Given the description of an element on the screen output the (x, y) to click on. 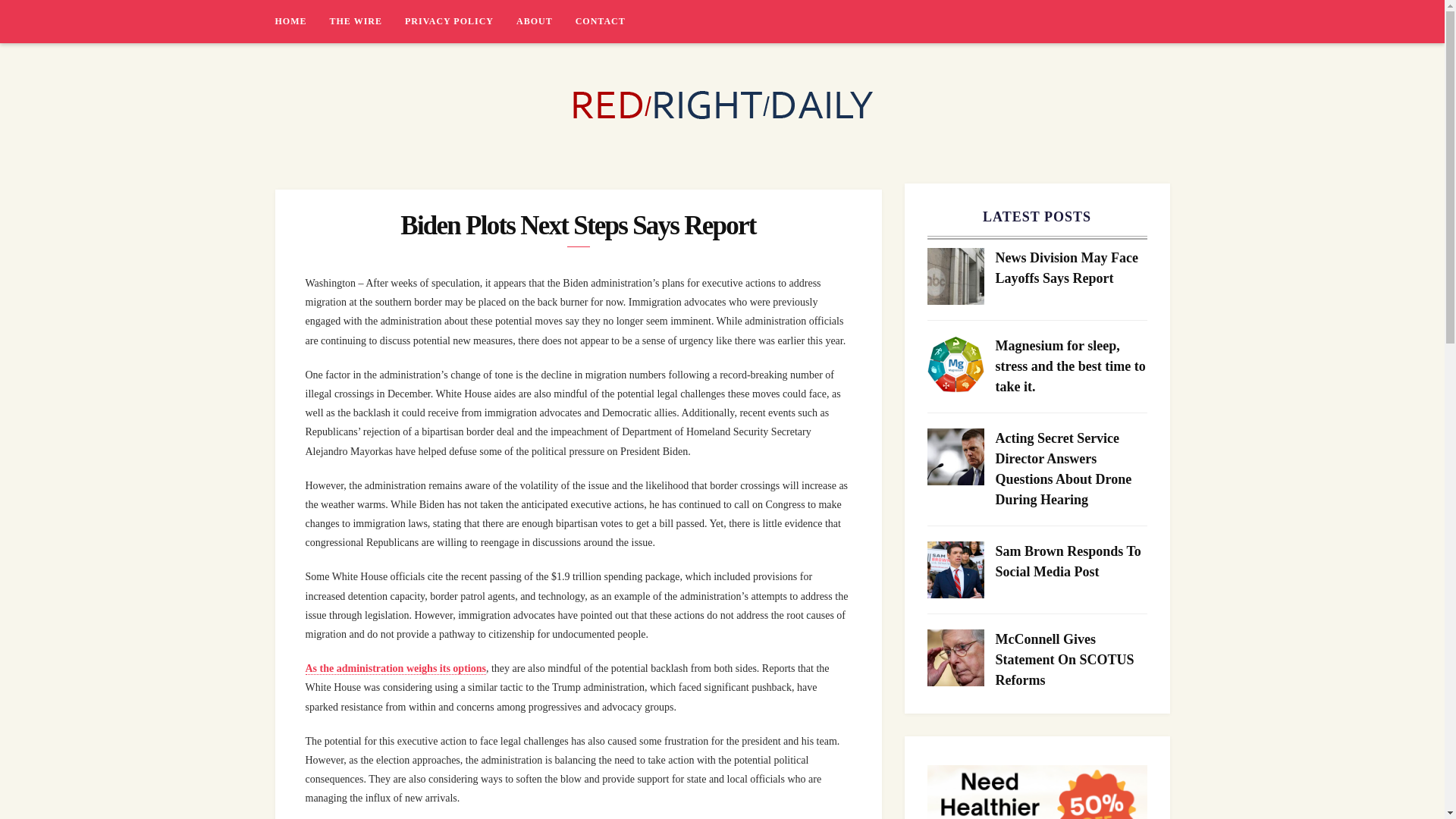
ABOUT (545, 21)
PRIVACY POLICY (460, 21)
Sam Brown Responds To Social Media Post (1070, 561)
CONTACT (600, 21)
McConnell Gives Statement On SCOTUS Reforms (1070, 660)
Magnesium for sleep, stress and the best time to take it. (1070, 366)
HOME (302, 21)
THE WIRE (366, 21)
News Division May Face Layoffs Says Report (1070, 268)
RED RIGHT DAILY (369, 160)
As the administration weighs its options (394, 668)
